Given the description of an element on the screen output the (x, y) to click on. 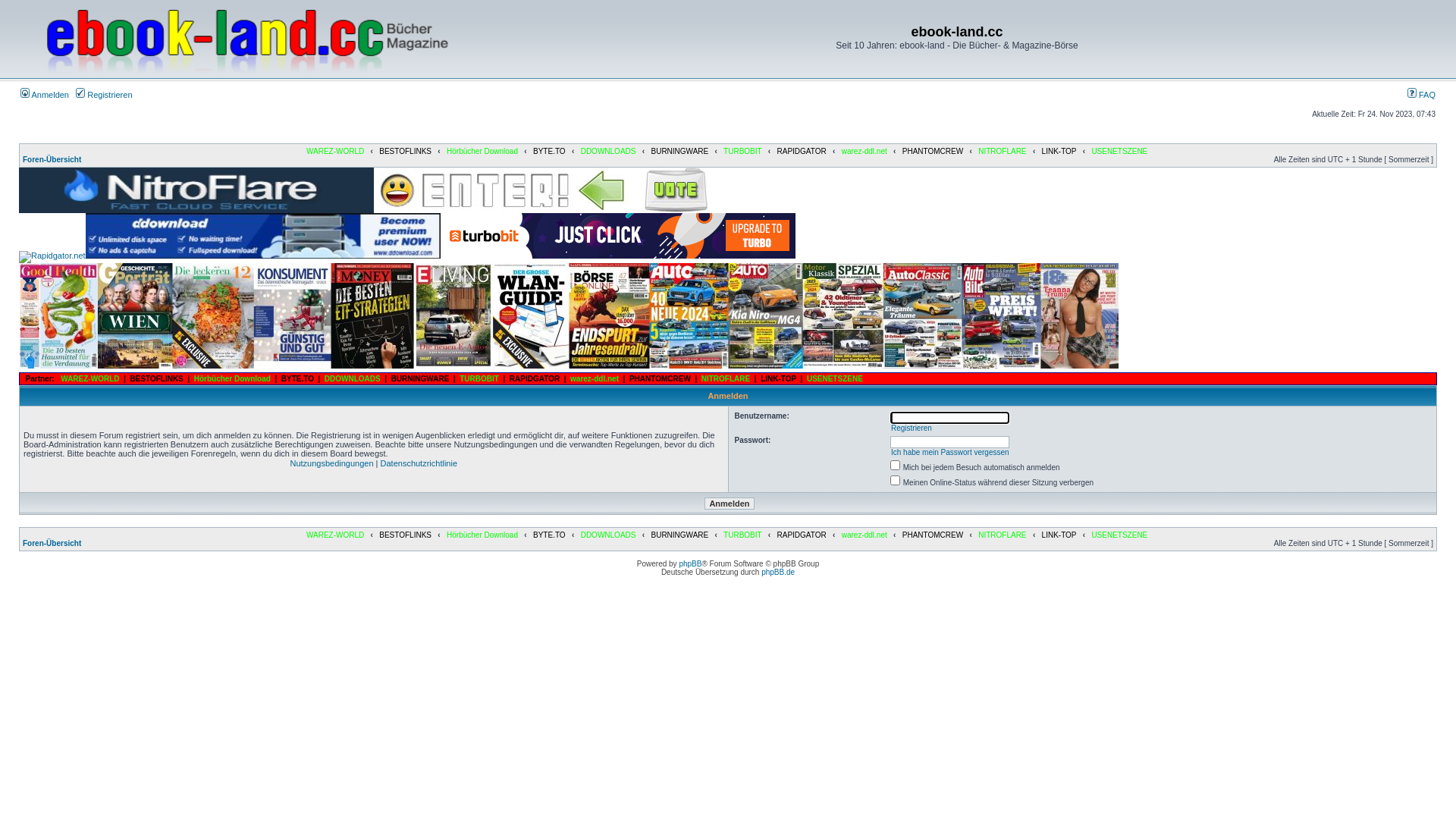
LINK-TOP Element type: text (778, 378)
NITROFLARE Element type: text (725, 378)
BYTE.TO Element type: text (297, 378)
phpBB Element type: text (689, 563)
Ich habe mein Passwort vergessen Element type: text (950, 452)
DDOWNLOADS Element type: text (608, 534)
USENETSZENE Element type: text (1119, 534)
TURBOBIT Element type: text (742, 151)
WAREZ-WORLD Element type: text (89, 378)
RAPIDGATOR Element type: text (800, 151)
USENETSZENE Element type: text (834, 378)
PHANTOMCREW Element type: text (932, 151)
NITROFLARE Element type: text (1002, 534)
TURBOBIT Element type: text (478, 378)
Anmelden Element type: text (728, 503)
warez-ddl.net Element type: text (864, 151)
warez-ddl.net Element type: text (594, 378)
BYTE.TO Element type: text (549, 534)
PHANTOMCREW Element type: text (932, 534)
Registrieren Element type: text (103, 94)
Nutzungsbedingungen Element type: text (331, 462)
LINK-TOP Element type: text (1058, 151)
BESTOFLINKS Element type: text (405, 151)
Registrieren Element type: text (911, 427)
NITROFLARE Element type: text (1002, 151)
BESTOFLINKS Element type: text (155, 378)
LINK-TOP Element type: text (1058, 534)
DDOWNLOADS Element type: text (352, 378)
WAREZ-WORLD Element type: text (335, 534)
FAQ Element type: text (1421, 94)
BURNINGWARE Element type: text (679, 534)
TURBOBIT Element type: text (742, 534)
USENETSZENE Element type: text (1119, 151)
Datenschutzrichtlinie Element type: text (419, 462)
BESTOFLINKS Element type: text (405, 534)
RAPIDGATOR Element type: text (534, 378)
WAREZ-WORLD Element type: text (335, 151)
BYTE.TO Element type: text (549, 151)
PHANTOMCREW Element type: text (659, 378)
Anmelden Element type: text (44, 94)
phpBB.de Element type: text (777, 571)
DDOWNLOADS Element type: text (608, 151)
BURNINGWARE Element type: text (679, 151)
warez-ddl.net Element type: text (864, 534)
BURNINGWARE Element type: text (420, 378)
RAPIDGATOR Element type: text (800, 534)
